Given the description of an element on the screen output the (x, y) to click on. 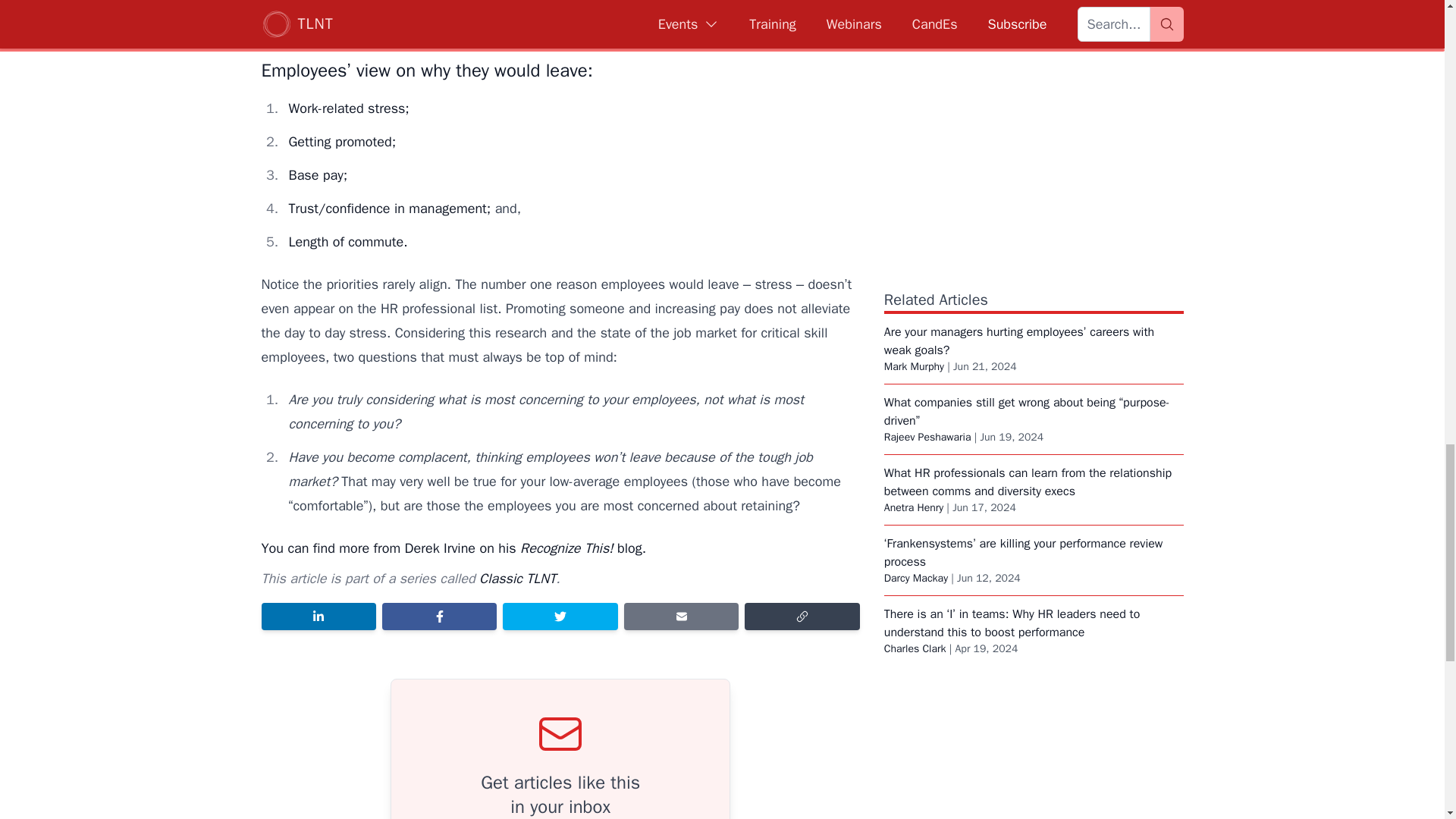
Anetra Henry (913, 507)
Recognize This! (565, 547)
Classic TLNT (517, 578)
 blog. (629, 547)
Mark Murphy (913, 366)
Rajeev Peshawaria (927, 436)
